Given the description of an element on the screen output the (x, y) to click on. 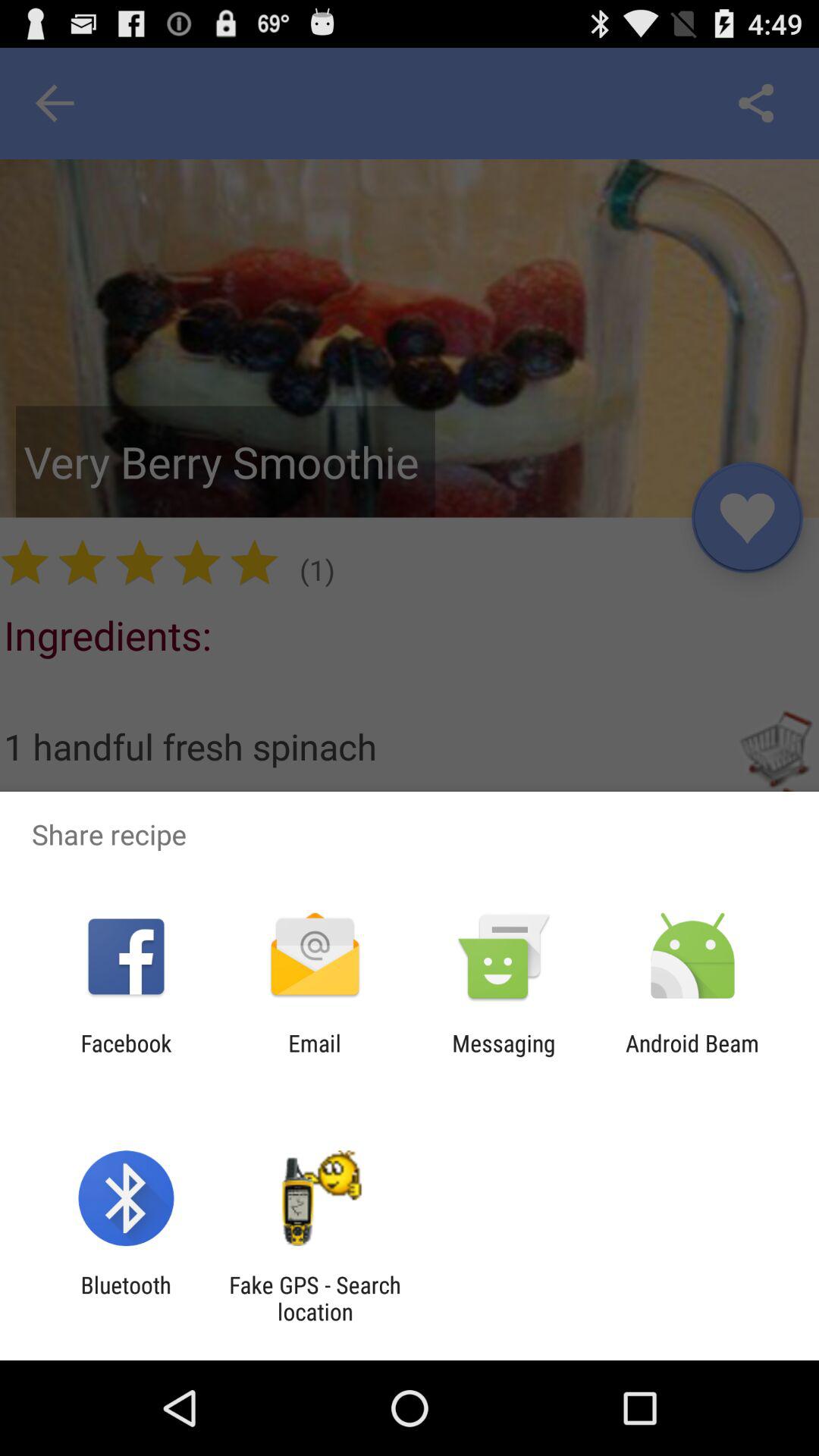
jump to the bluetooth icon (125, 1298)
